Given the description of an element on the screen output the (x, y) to click on. 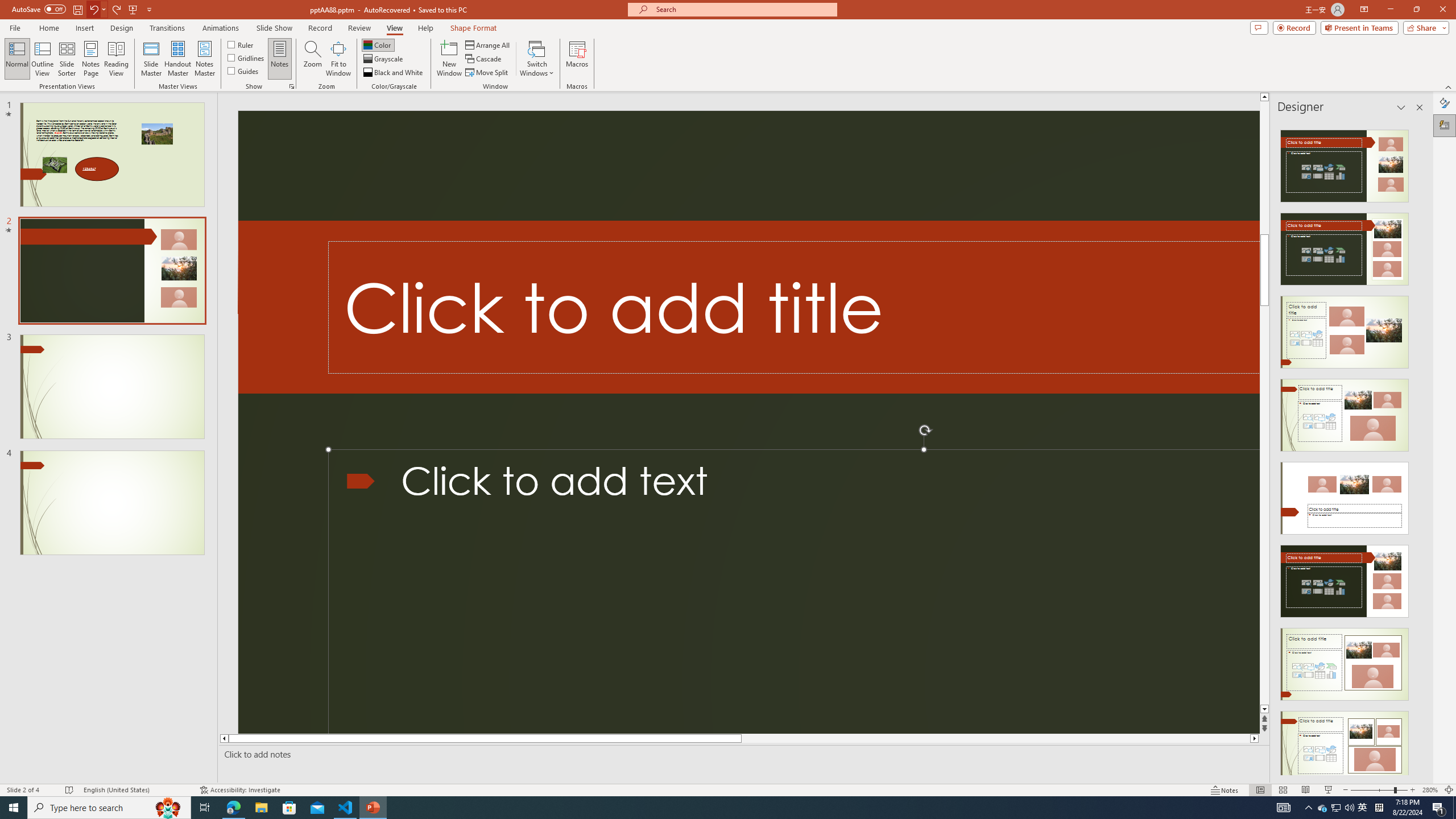
Macros (576, 58)
Gridlines (246, 56)
Switch Windows (537, 58)
Color (377, 44)
Move Split (487, 72)
Ruler (241, 44)
